Given the description of an element on the screen output the (x, y) to click on. 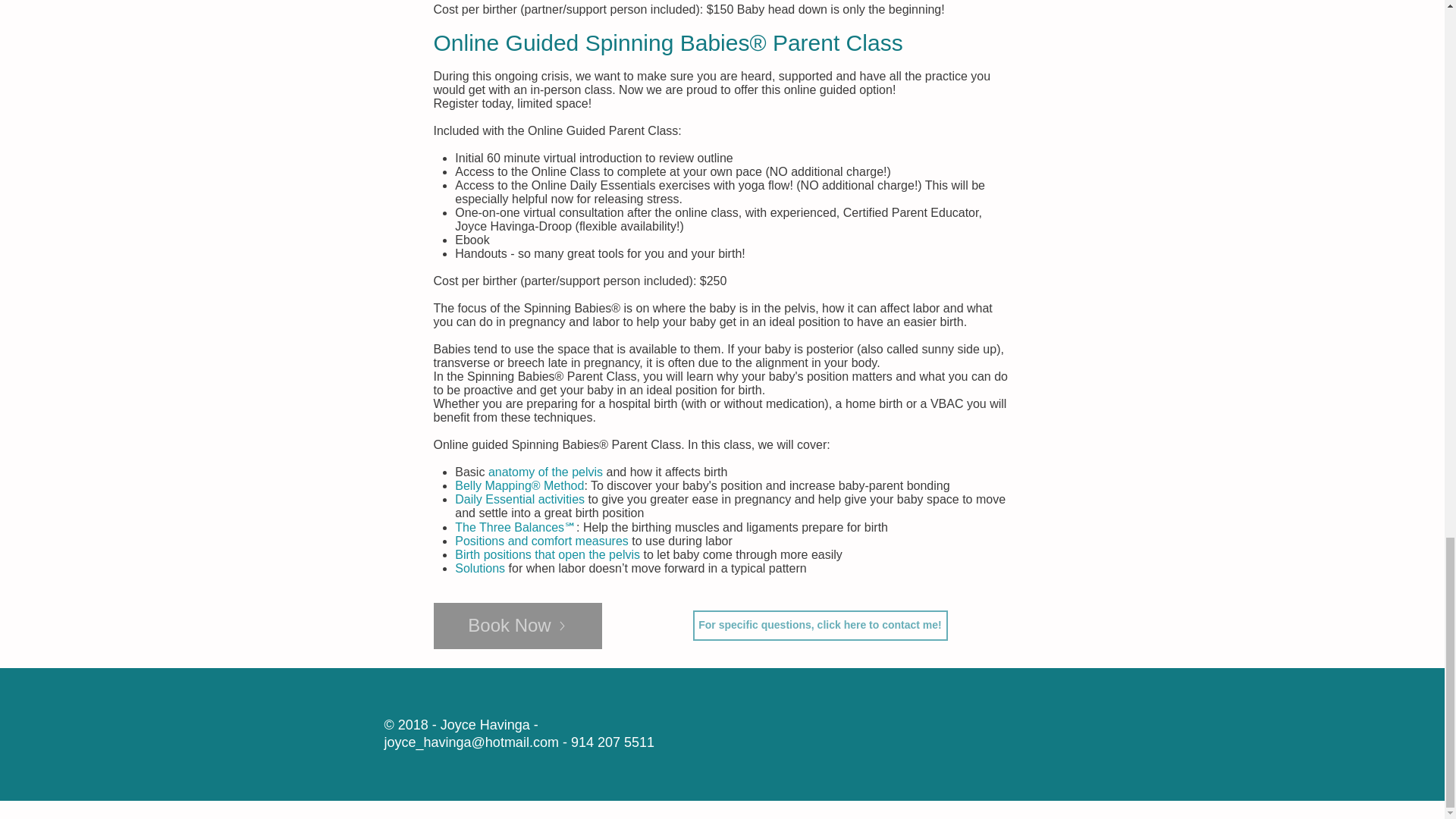
Book Now (517, 625)
For specific questions, click here to contact me! (820, 625)
